Given the description of an element on the screen output the (x, y) to click on. 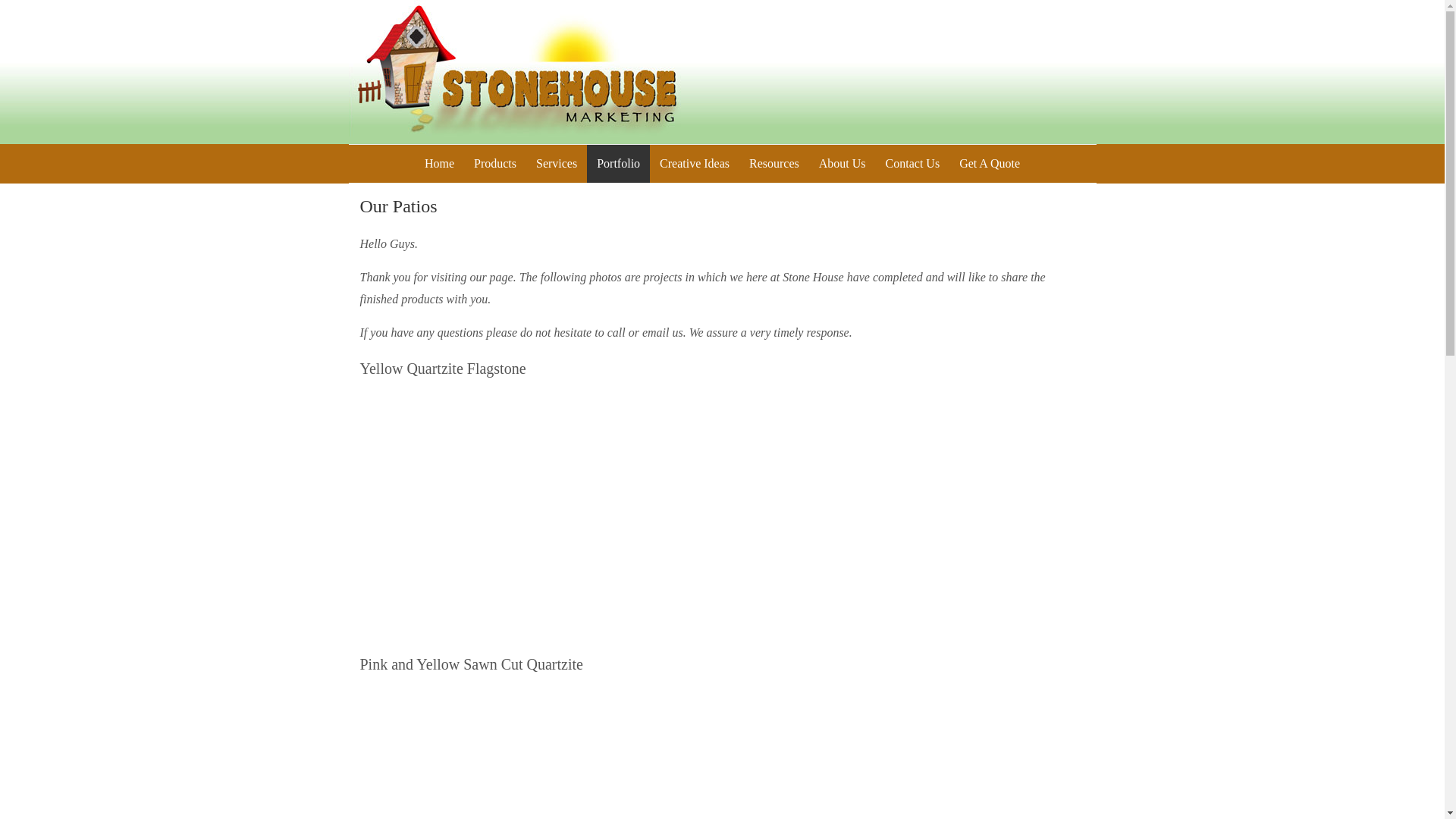
Products (494, 163)
Portfolio (617, 163)
Services (555, 163)
Contact Us (913, 163)
Resources (774, 163)
Get A Quote (989, 163)
About Us (842, 163)
Creative Ideas (694, 163)
Home (439, 163)
